Given the description of an element on the screen output the (x, y) to click on. 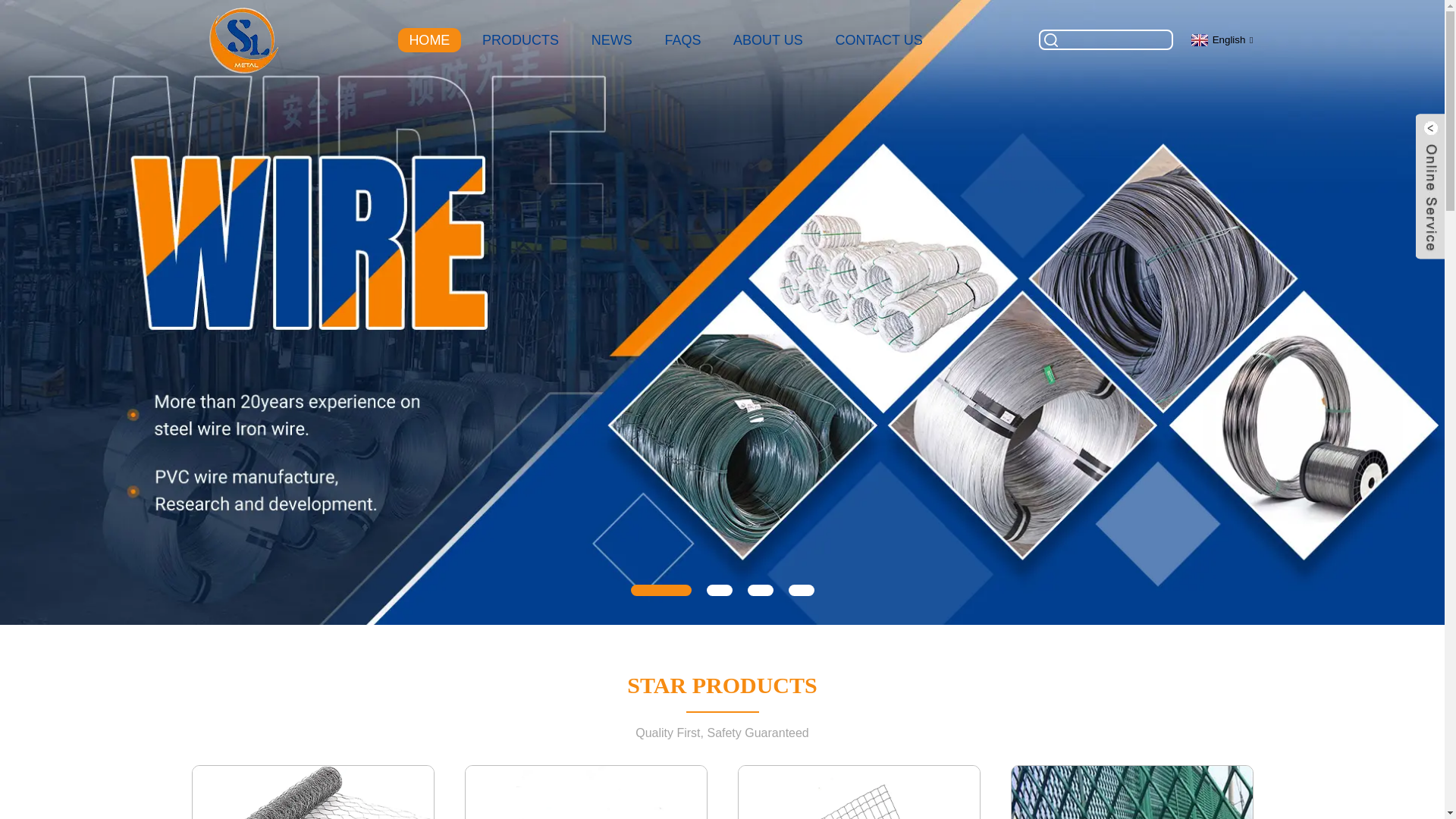
English (1220, 39)
NEWS (611, 39)
ABOUT US (767, 39)
PRODUCTS (520, 39)
CONTACT US (878, 39)
FAQS (682, 39)
HOME (429, 39)
